Given the description of an element on the screen output the (x, y) to click on. 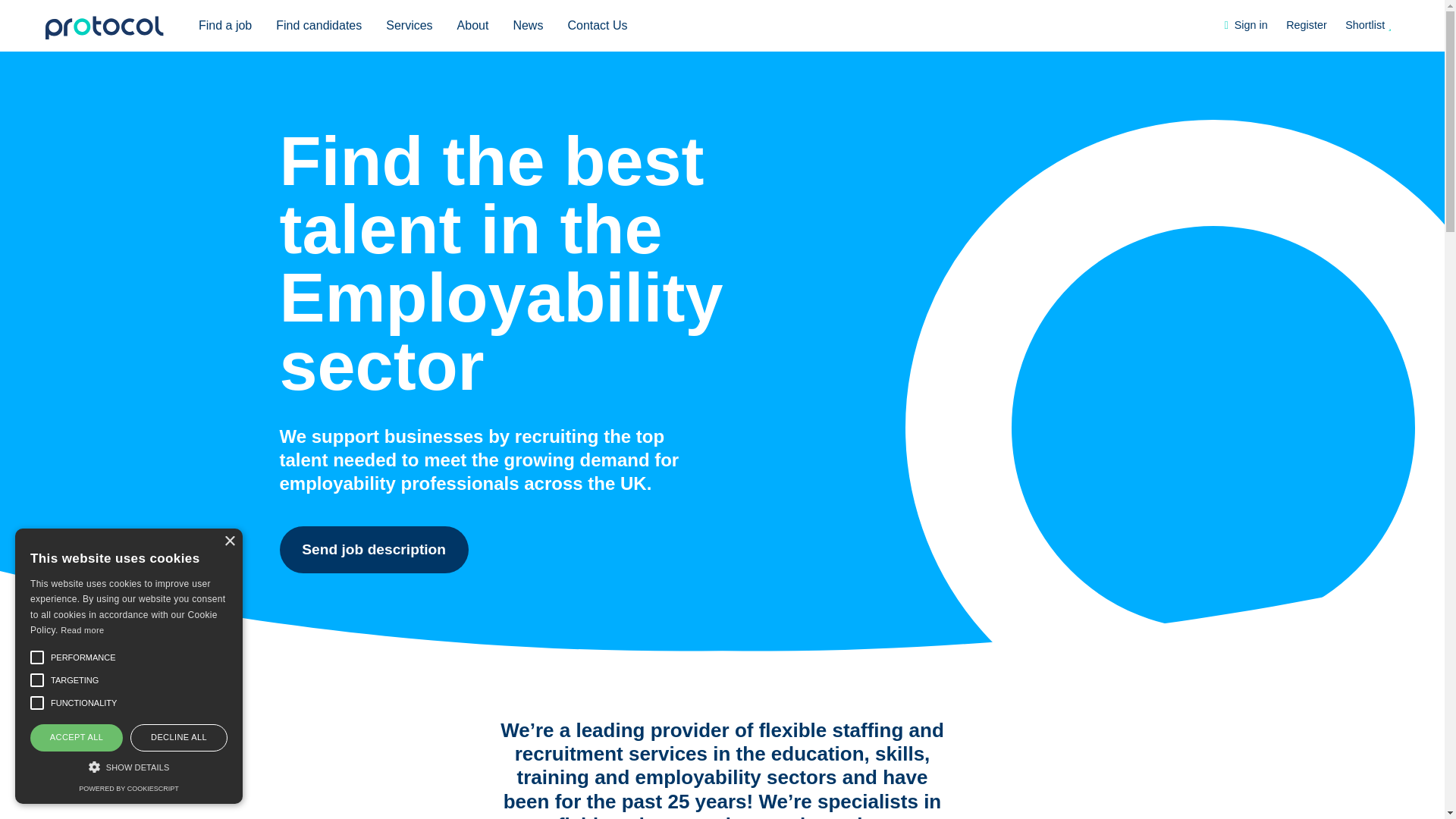
Find candidates (318, 25)
Services (409, 25)
Find a job (224, 25)
Consent Management Platform (127, 788)
